Given the description of an element on the screen output the (x, y) to click on. 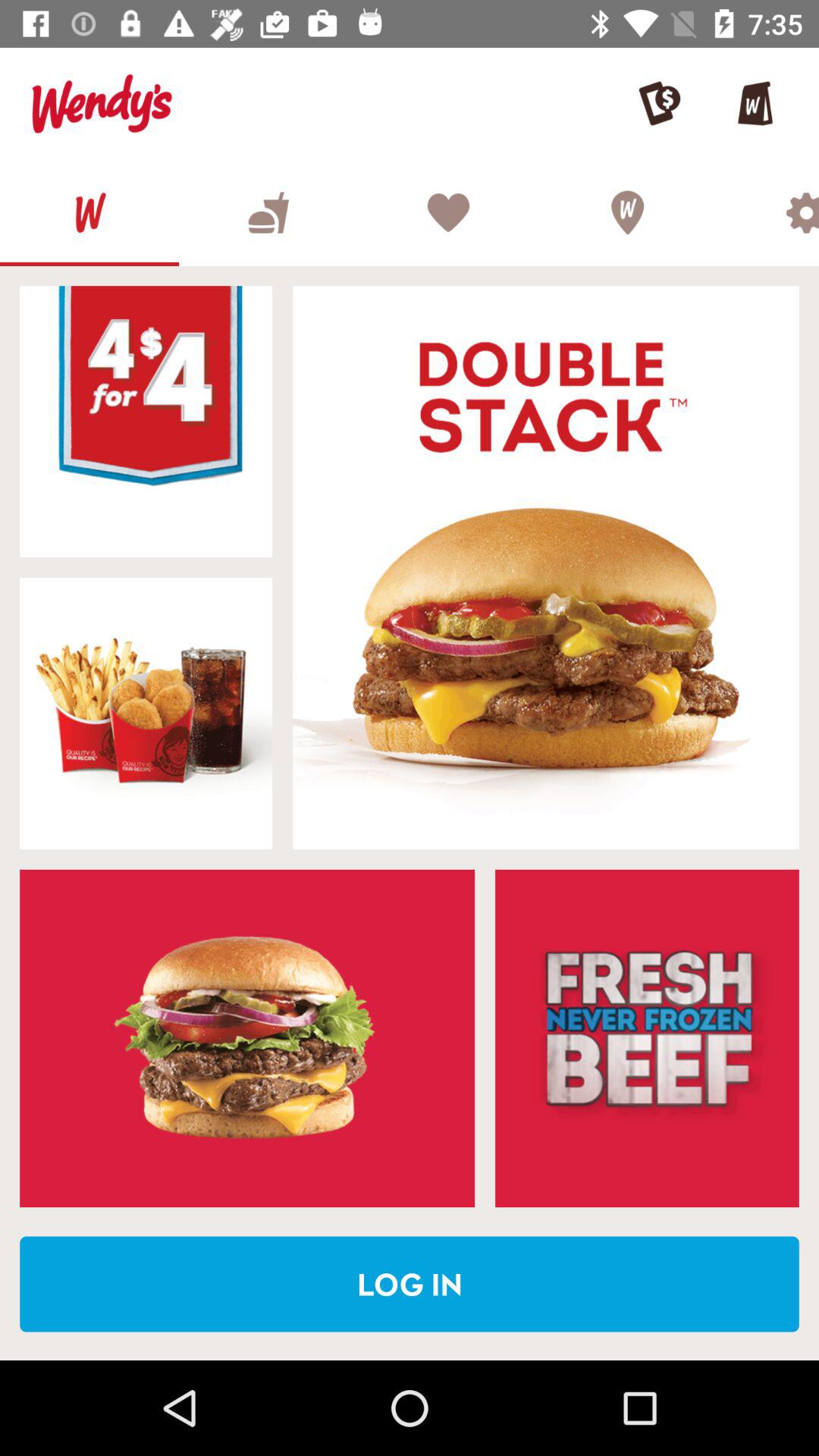
go to the settings page (767, 212)
